Given the description of an element on the screen output the (x, y) to click on. 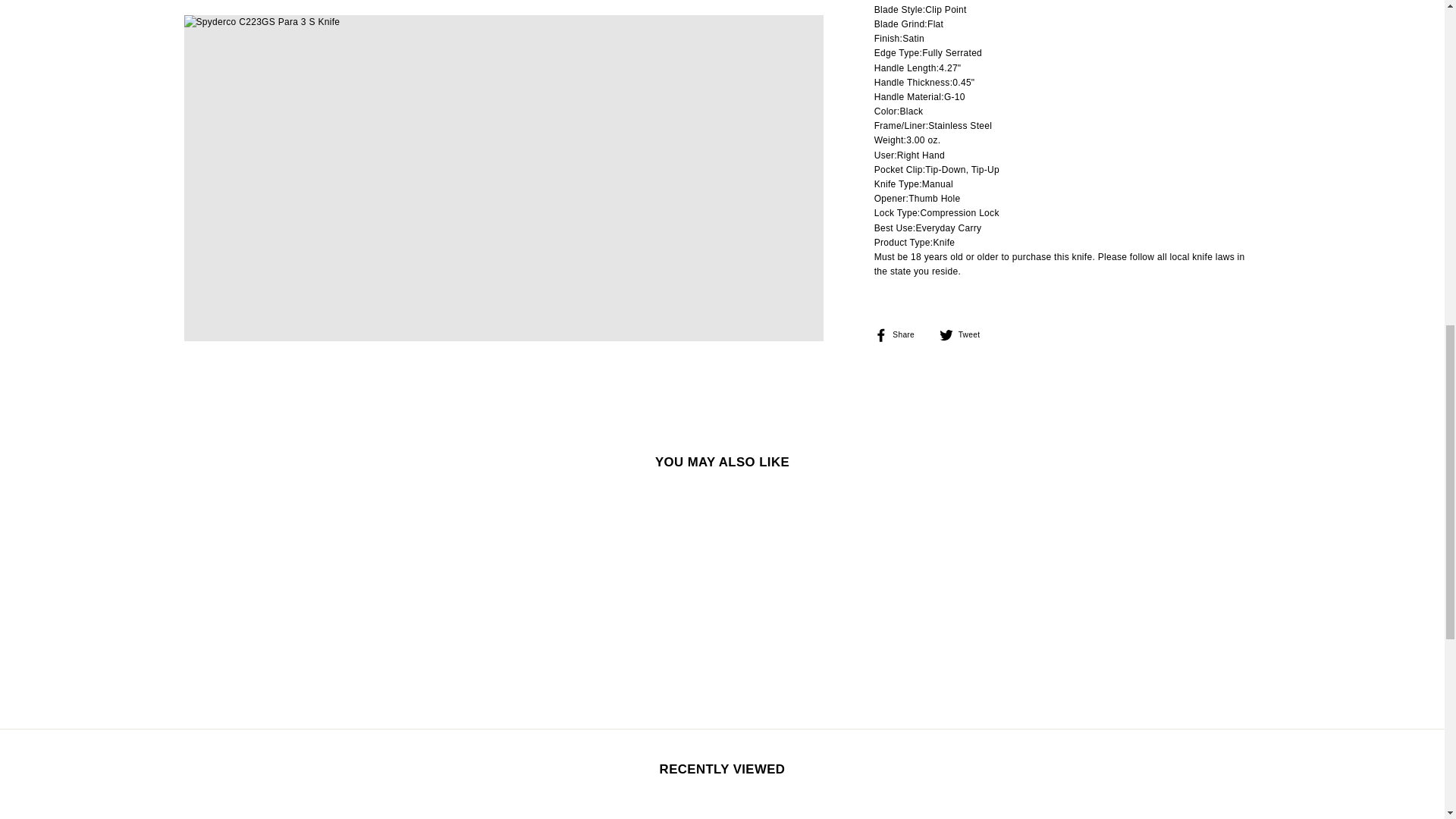
Tweet on Twitter (965, 335)
Share on Facebook (900, 335)
